Given the description of an element on the screen output the (x, y) to click on. 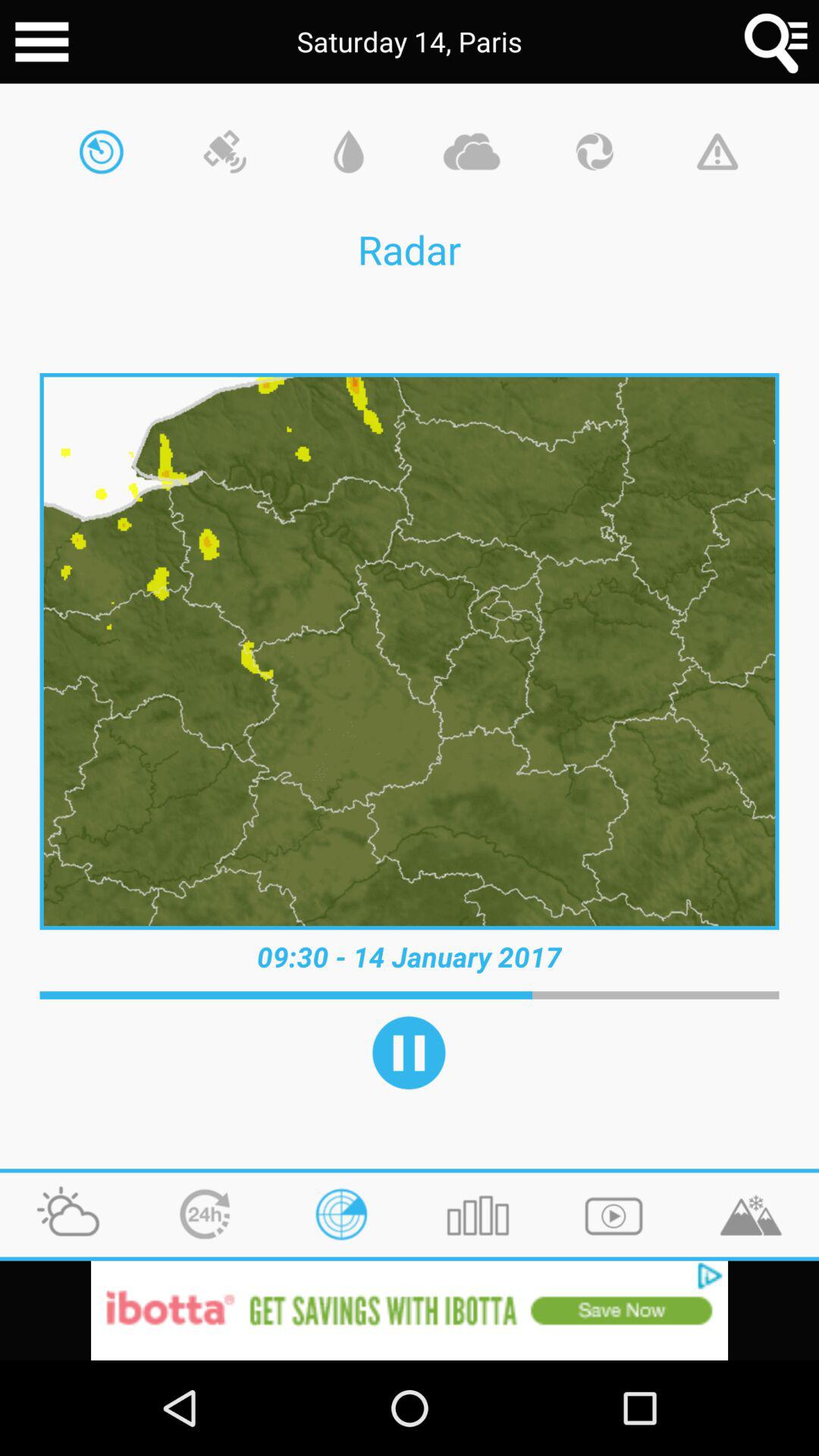
search for area (777, 41)
